Given the description of an element on the screen output the (x, y) to click on. 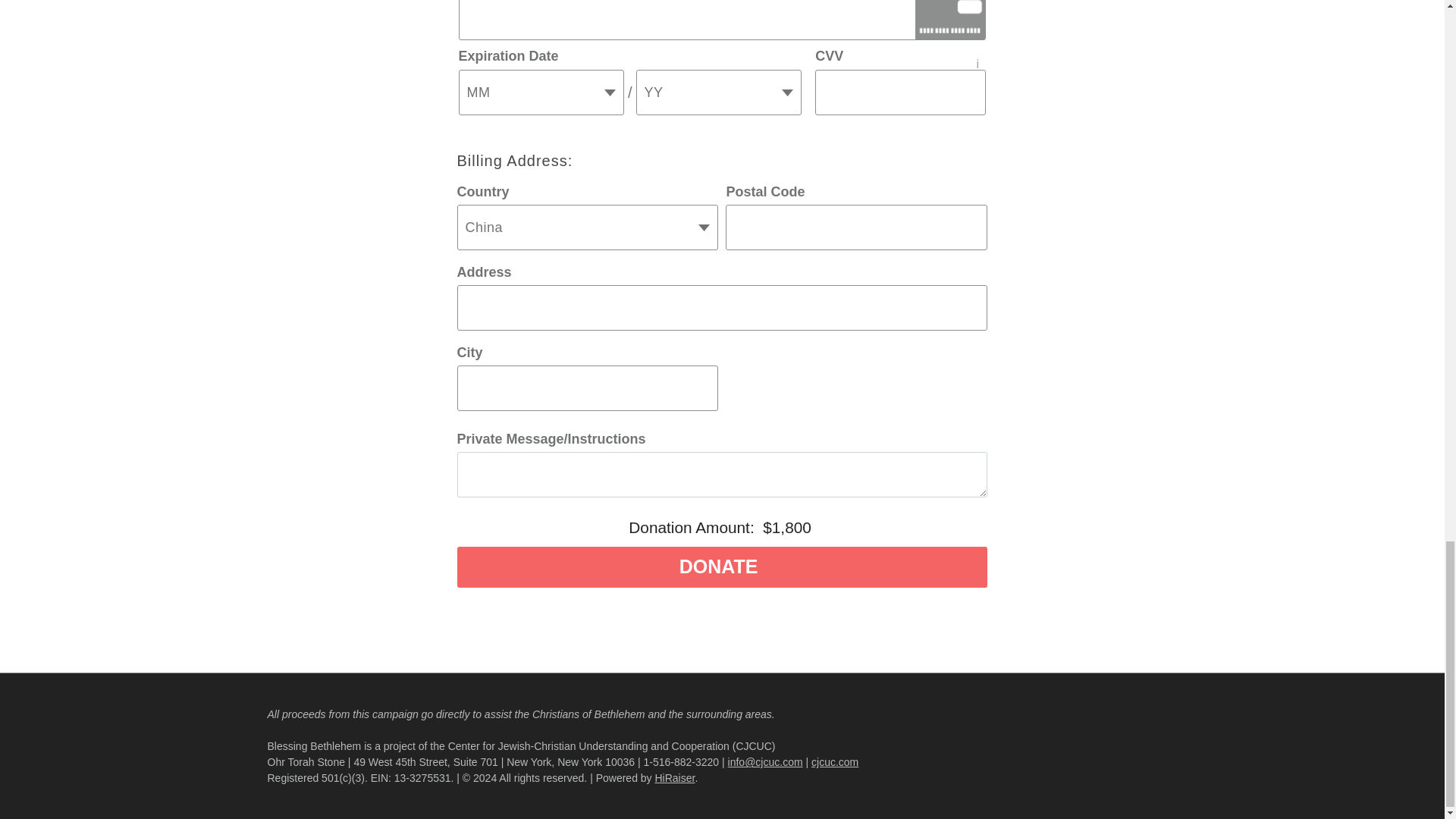
HiRaiser (675, 777)
DONATE (722, 567)
i (975, 56)
cjcuc.com (834, 761)
